Given the description of an element on the screen output the (x, y) to click on. 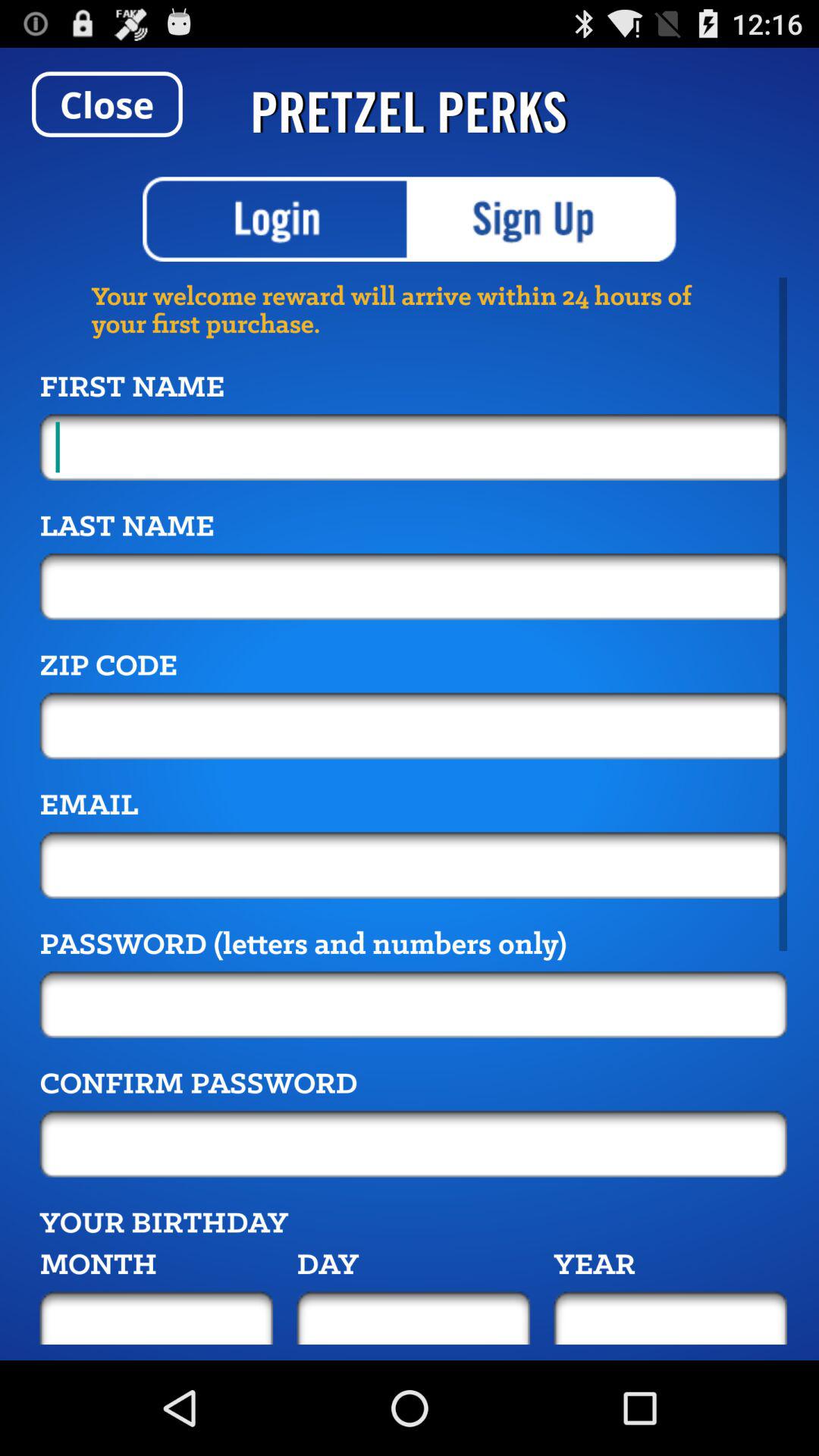
choose item next to pretzel perks (106, 104)
